Given the description of an element on the screen output the (x, y) to click on. 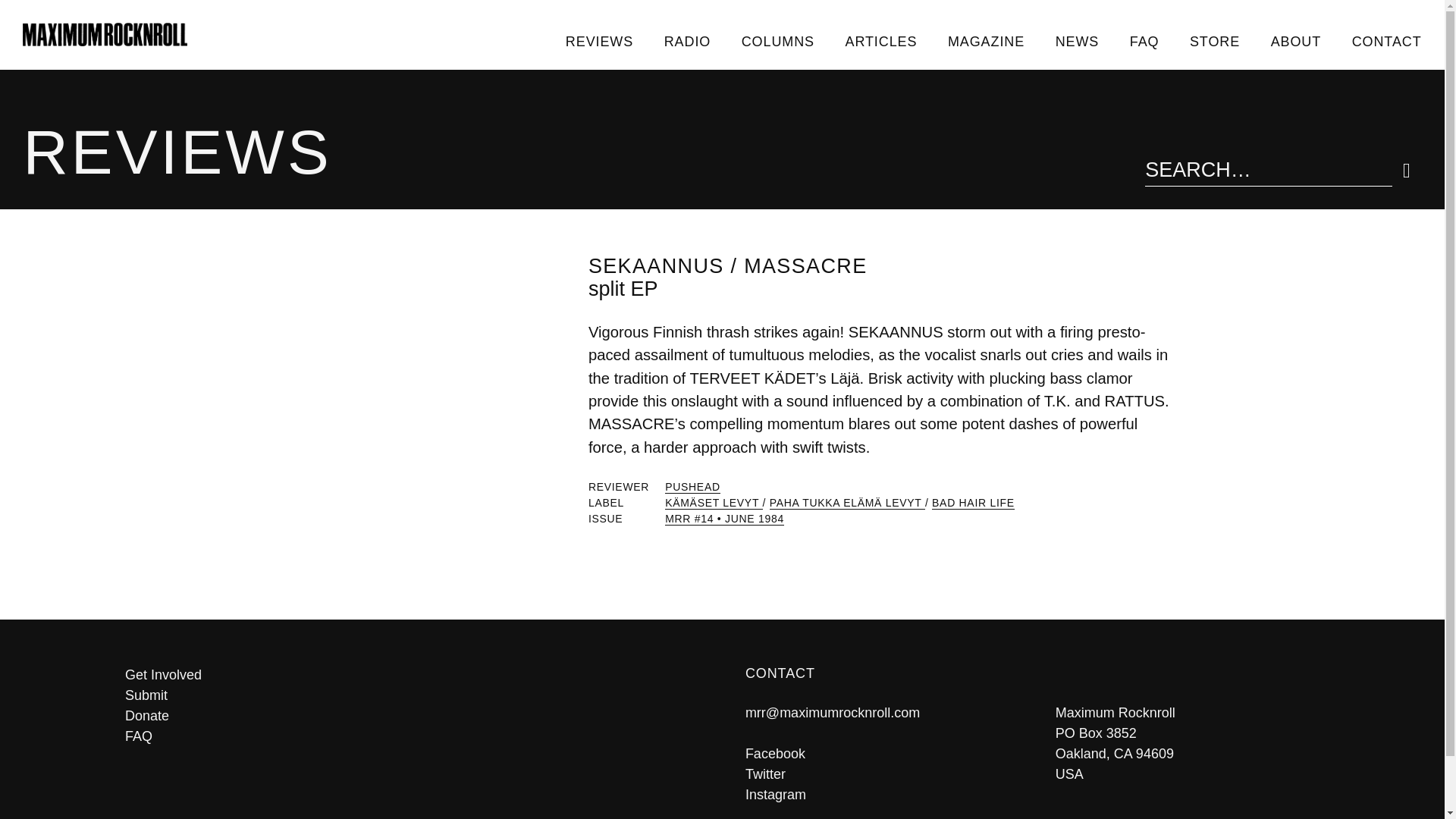
Facebook (775, 753)
ARTICLES (880, 41)
CONTACT (1385, 41)
ABOUT (1295, 41)
NEWS (1076, 41)
MASSACRE (805, 265)
COLUMNS (777, 41)
Twitter (765, 774)
REVIEWS (599, 41)
Submit (411, 695)
Donate (411, 715)
FAQ (411, 736)
RADIO (686, 41)
Get Involved (411, 675)
STORE (1214, 41)
